Given the description of an element on the screen output the (x, y) to click on. 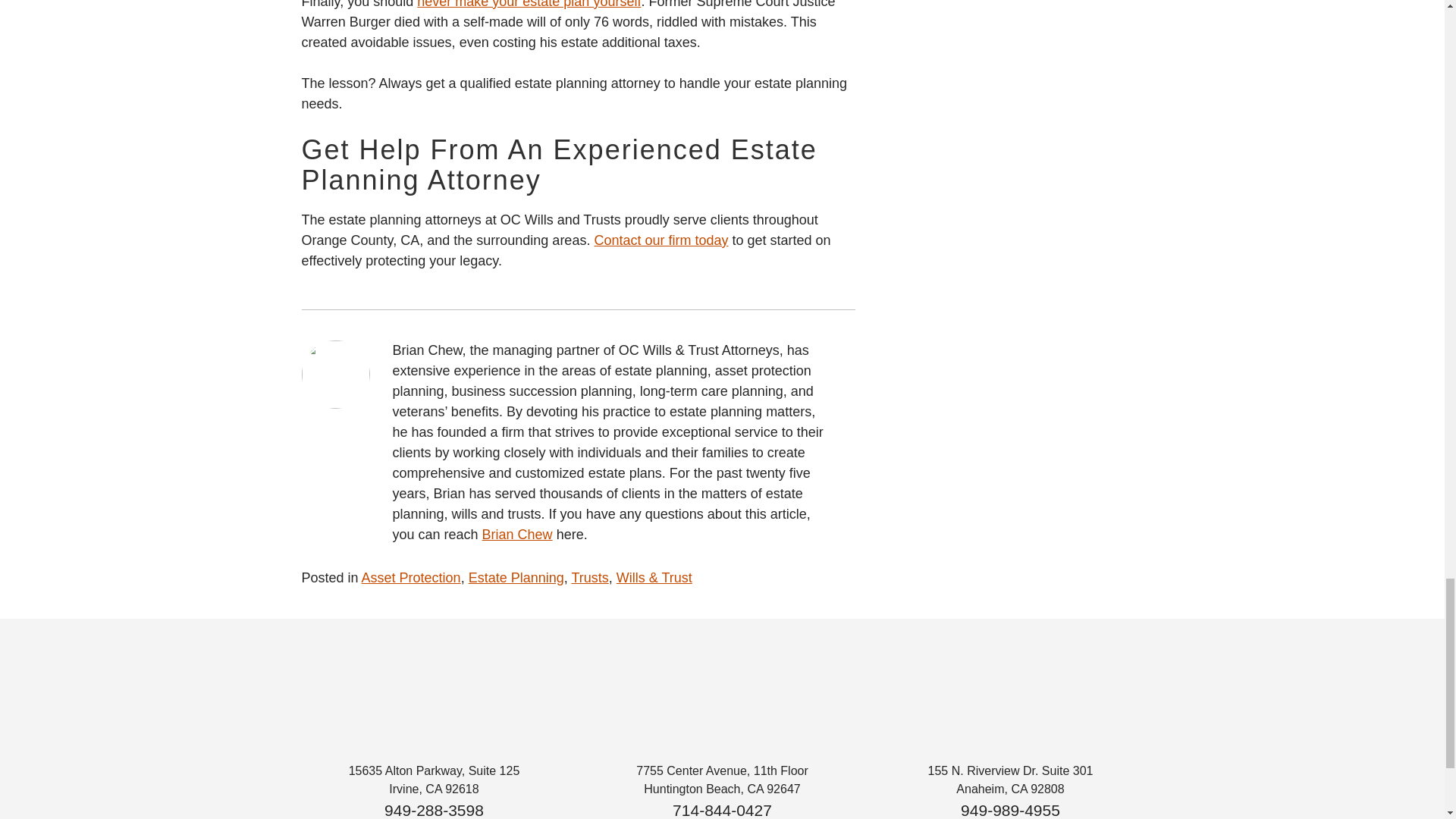
never make your estate plan yourself (528, 4)
Contact our firm today (661, 240)
Asset Protection (411, 577)
Estate Planning (516, 577)
Brian Chew (517, 534)
